Given the description of an element on the screen output the (x, y) to click on. 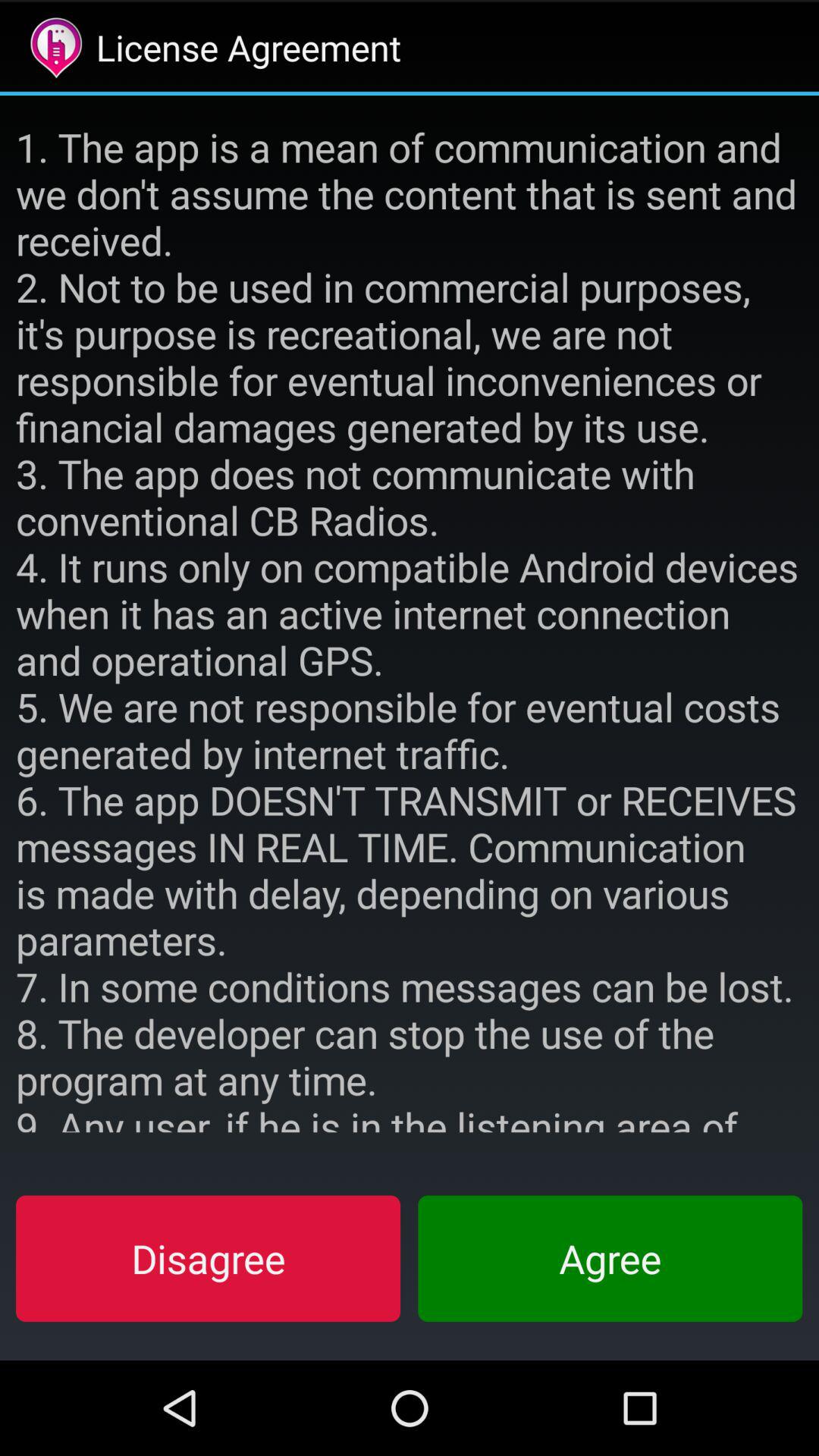
tap item at the bottom left corner (207, 1258)
